Given the description of an element on the screen output the (x, y) to click on. 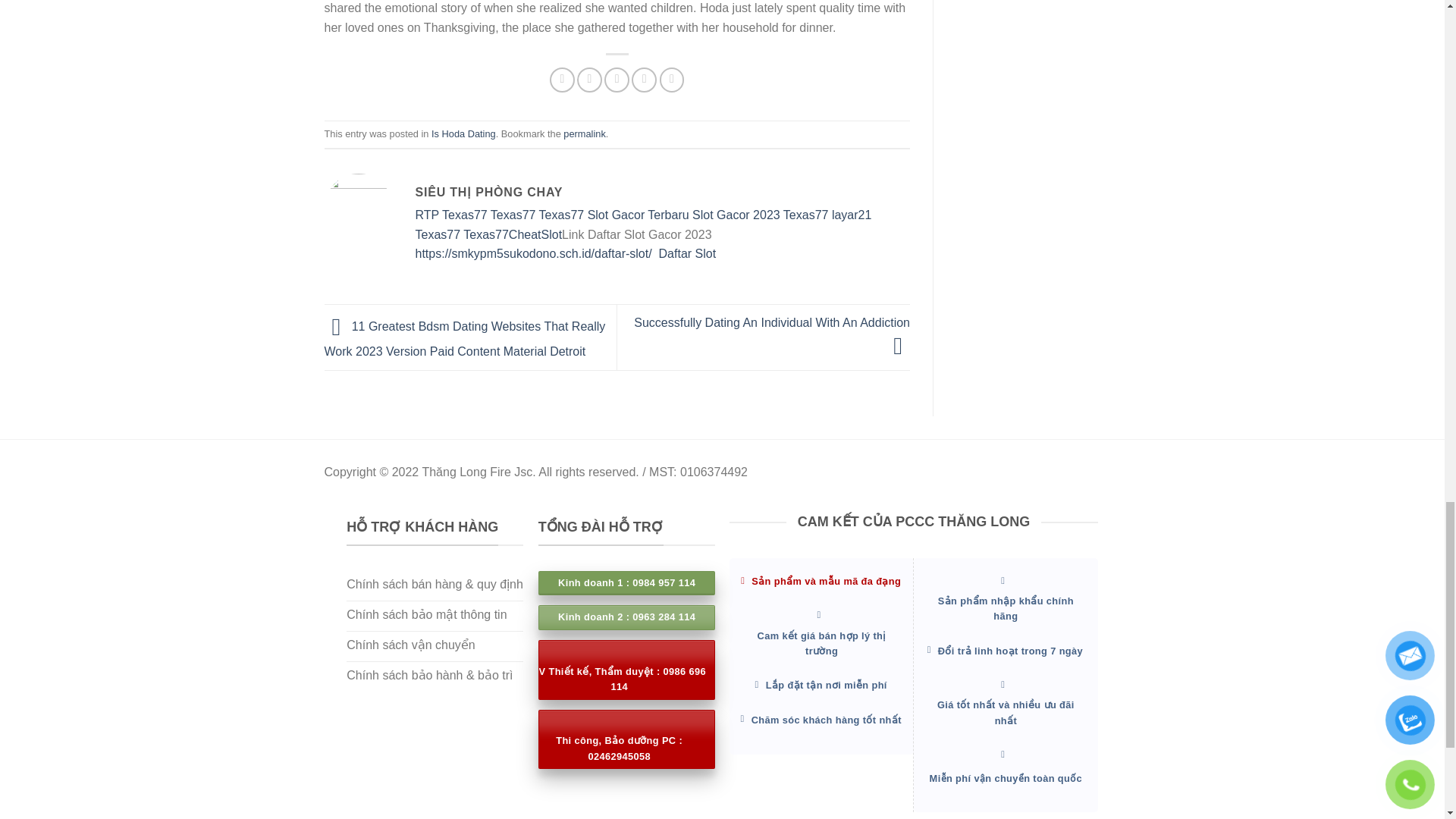
Share on Telegram (671, 79)
Share on Facebook (562, 79)
Share on Twitter (589, 79)
Share on LinkedIn (643, 79)
Email to a Friend (616, 79)
